Given the description of an element on the screen output the (x, y) to click on. 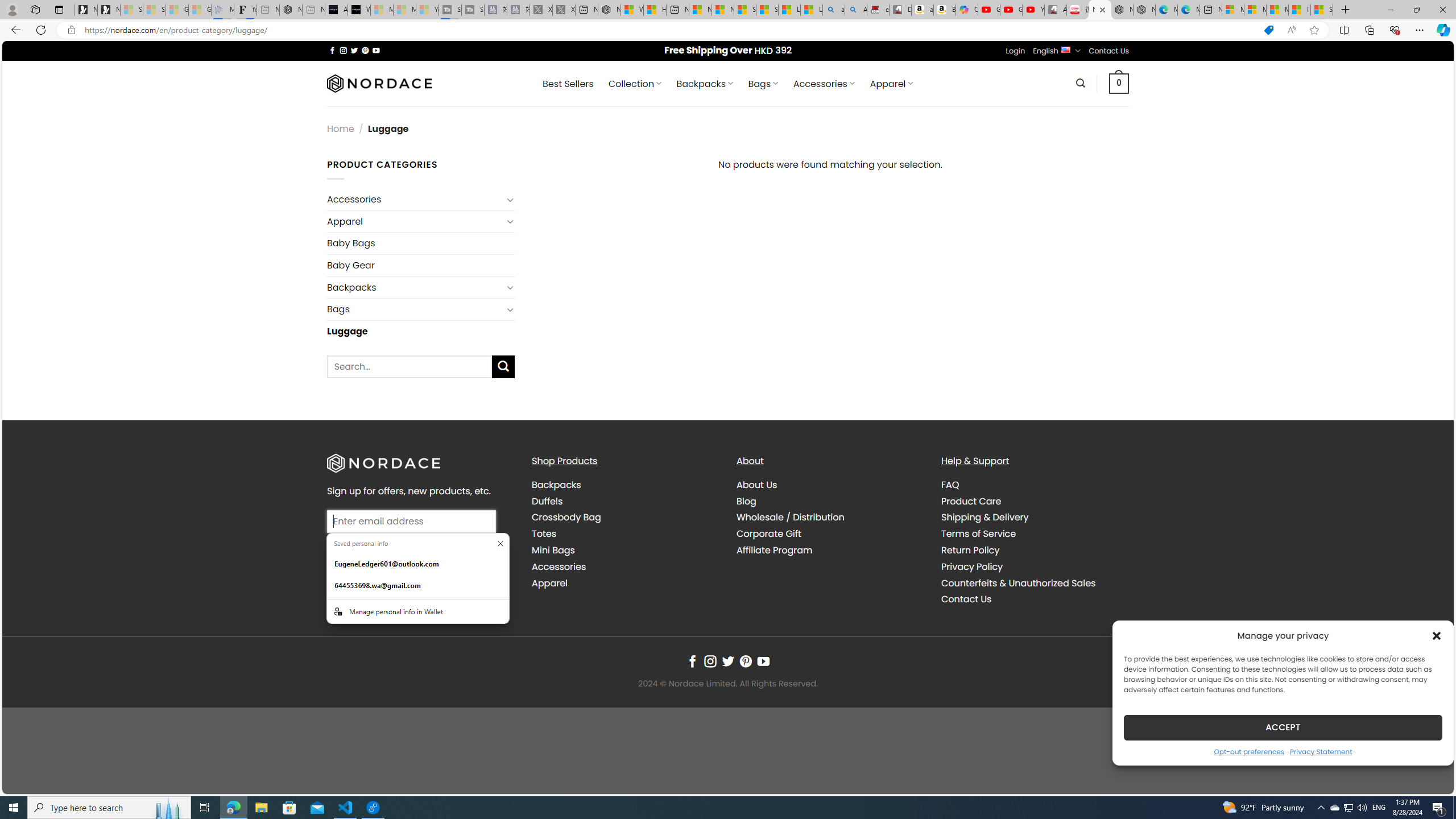
AutomationID: field_4_1 (411, 522)
Nordace - Luggage (1099, 9)
Luggage (421, 331)
EugeneLedger601@outlook.com. :Basic info suggestion. (417, 563)
Amazon Echo Dot PNG - Search Images (856, 9)
X - Sleeping (563, 9)
Counterfeits & Unauthorized Sales (1018, 582)
Login (1015, 50)
Browser essentials (1394, 29)
Microsoft Start (1276, 9)
